Given the description of an element on the screen output the (x, y) to click on. 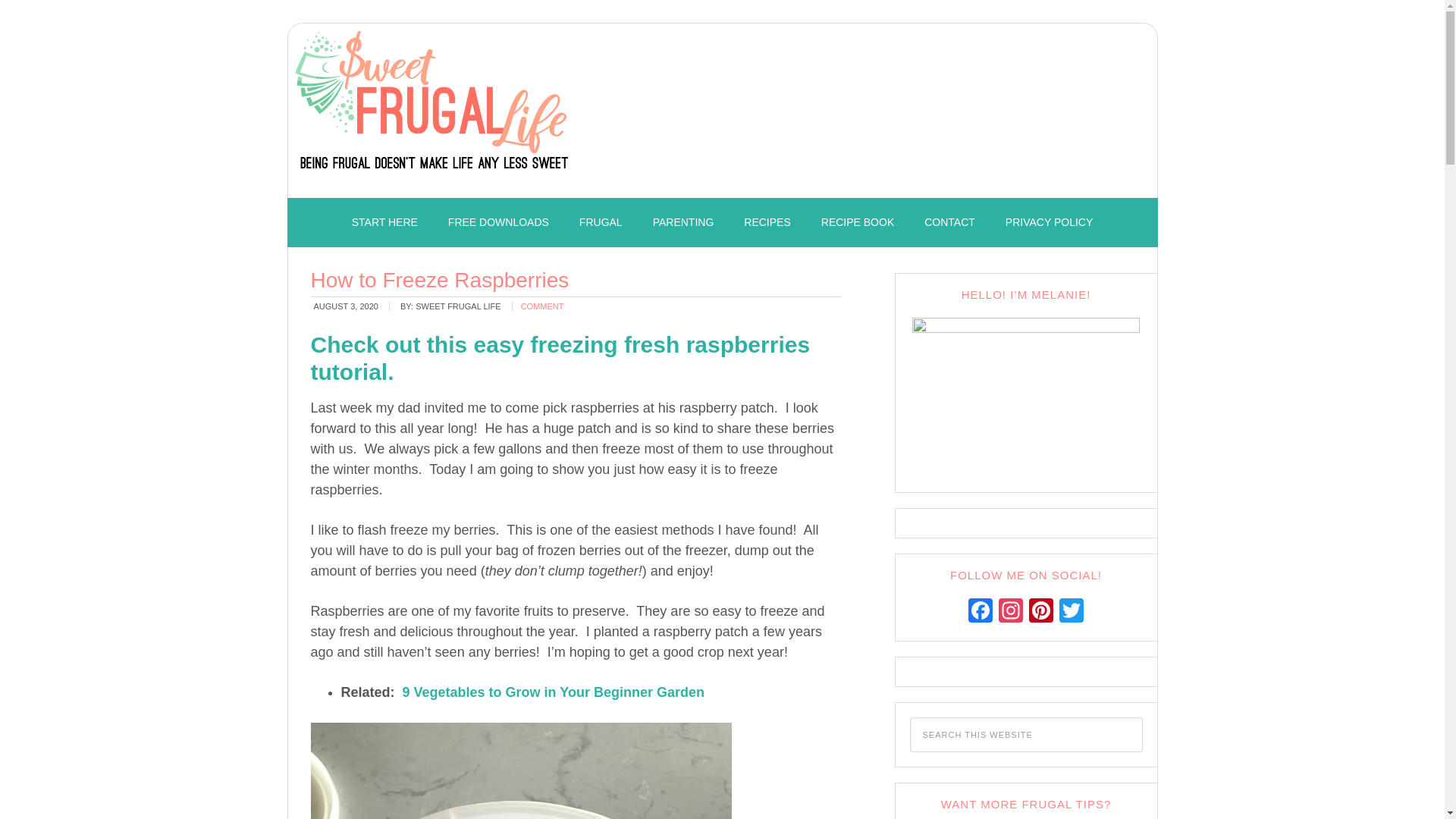
START HERE (384, 222)
RECIPES (767, 222)
9 Vegetables to Grow in Your Beginner Garden (553, 691)
COMMENT (542, 306)
Sweet Frugal Life (432, 106)
FRUGAL (600, 222)
PARENTING (683, 222)
Instagram (1010, 612)
